Given the description of an element on the screen output the (x, y) to click on. 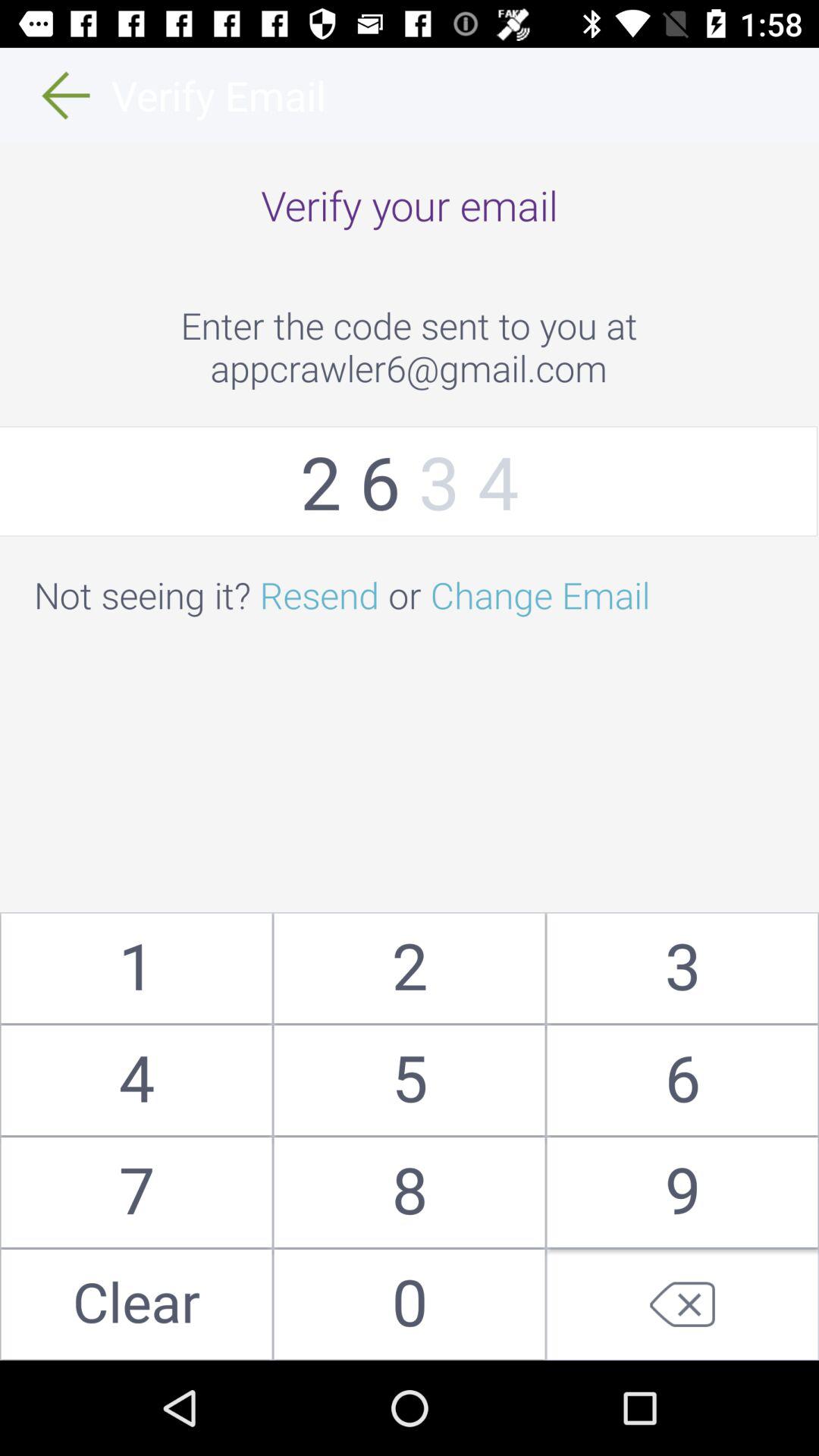
erase 1 digit (682, 1304)
